Given the description of an element on the screen output the (x, y) to click on. 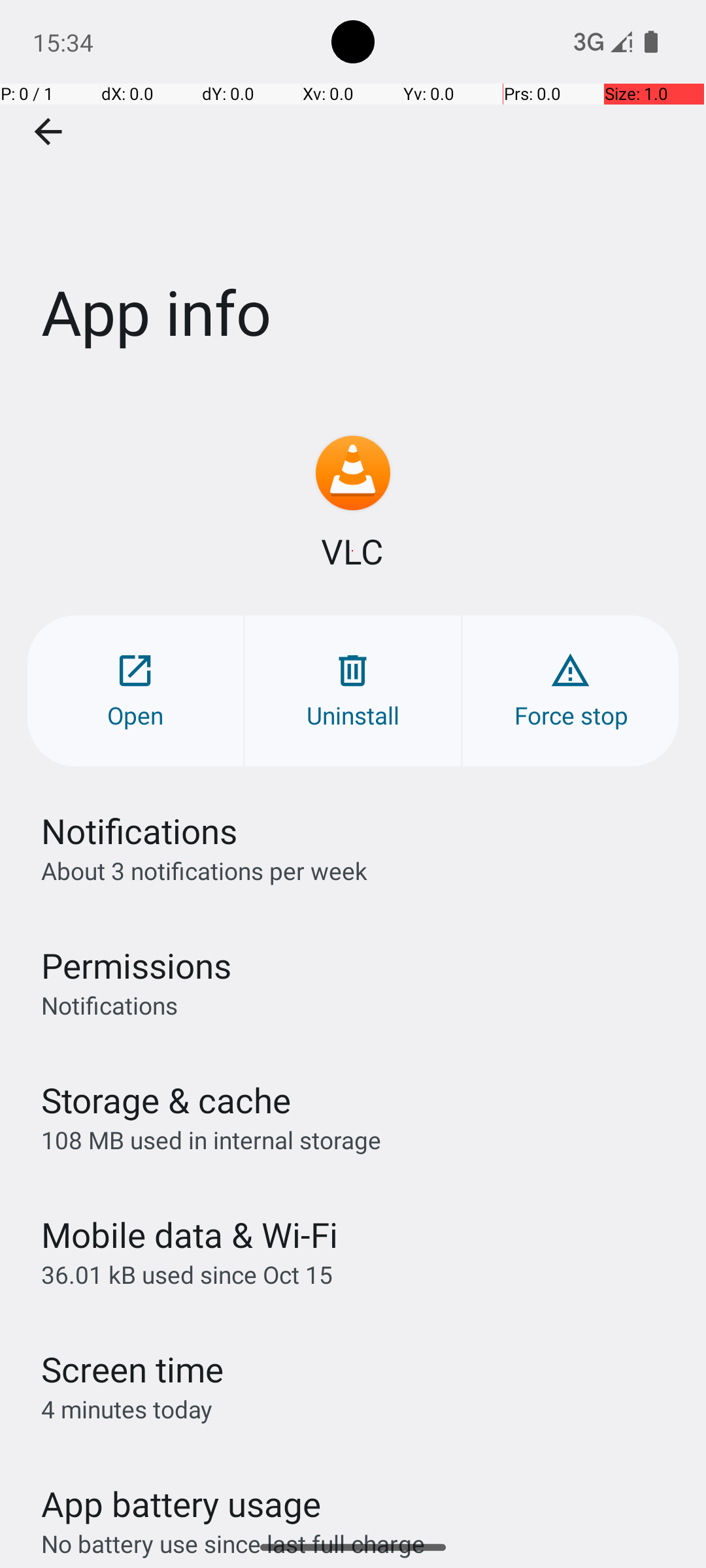
Uninstall Element type: android.widget.Button (352, 690)
About 3 notifications per week Element type: android.widget.TextView (204, 870)
108 MB used in internal storage Element type: android.widget.TextView (211, 1139)
36.01 kB used since Oct 15 Element type: android.widget.TextView (186, 1273)
4 minutes today Element type: android.widget.TextView (127, 1408)
